Given the description of an element on the screen output the (x, y) to click on. 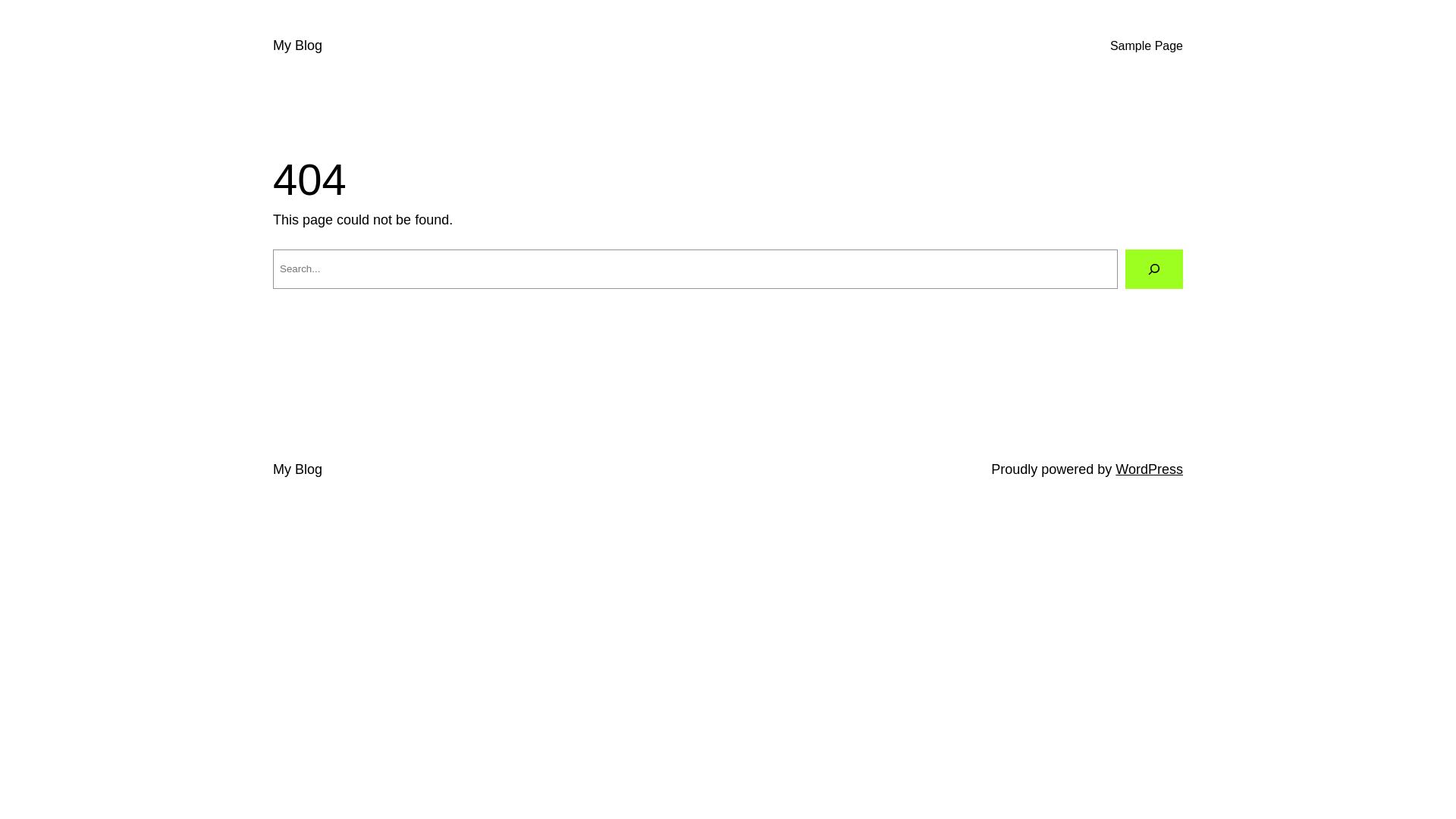
My Blog Element type: text (297, 468)
My Blog Element type: text (297, 45)
WordPress Element type: text (1149, 468)
Sample Page Element type: text (1146, 46)
